Given the description of an element on the screen output the (x, y) to click on. 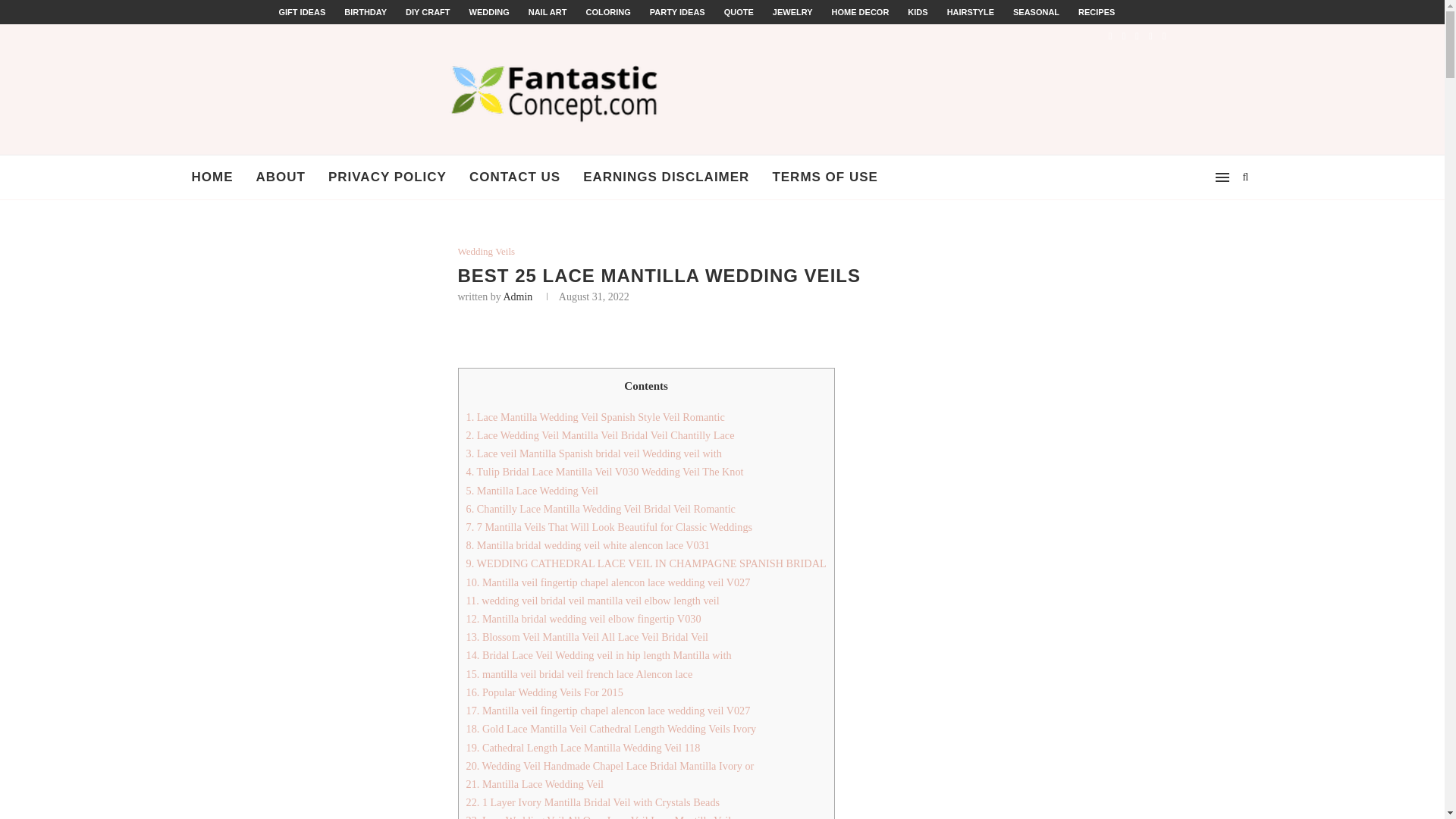
BIRTHDAY (365, 11)
GIFT IDEAS (302, 11)
